Given the description of an element on the screen output the (x, y) to click on. 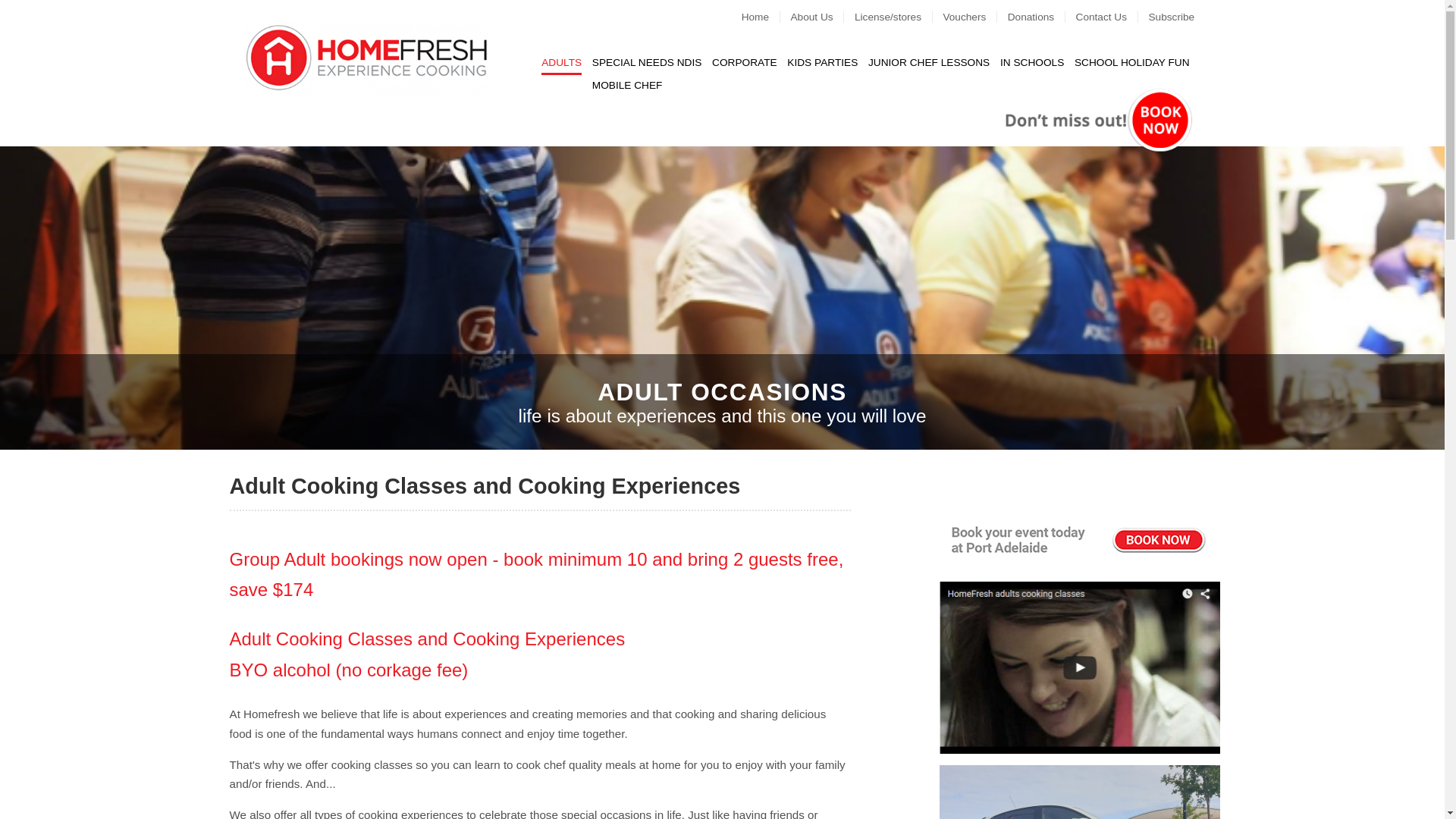
Contact Us Element type: text (1112, 16)
License/stores Element type: text (898, 16)
MOBILE CHEF Element type: text (627, 85)
IN SCHOOLS Element type: text (1031, 62)
CORPORATE Element type: text (744, 62)
SPECIAL NEEDS NDIS Element type: text (647, 62)
Subscribe Element type: text (1181, 16)
About Us Element type: text (822, 16)
Vouchers Element type: text (974, 16)
Home Element type: text (765, 16)
JUNIOR CHEF LESSONS Element type: text (928, 62)
KIDS PARTIES Element type: text (822, 62)
ADULTS Element type: text (561, 62)
SCHOOL HOLIDAY FUN Element type: text (1131, 62)
Donations Element type: text (1041, 16)
